Given the description of an element on the screen output the (x, y) to click on. 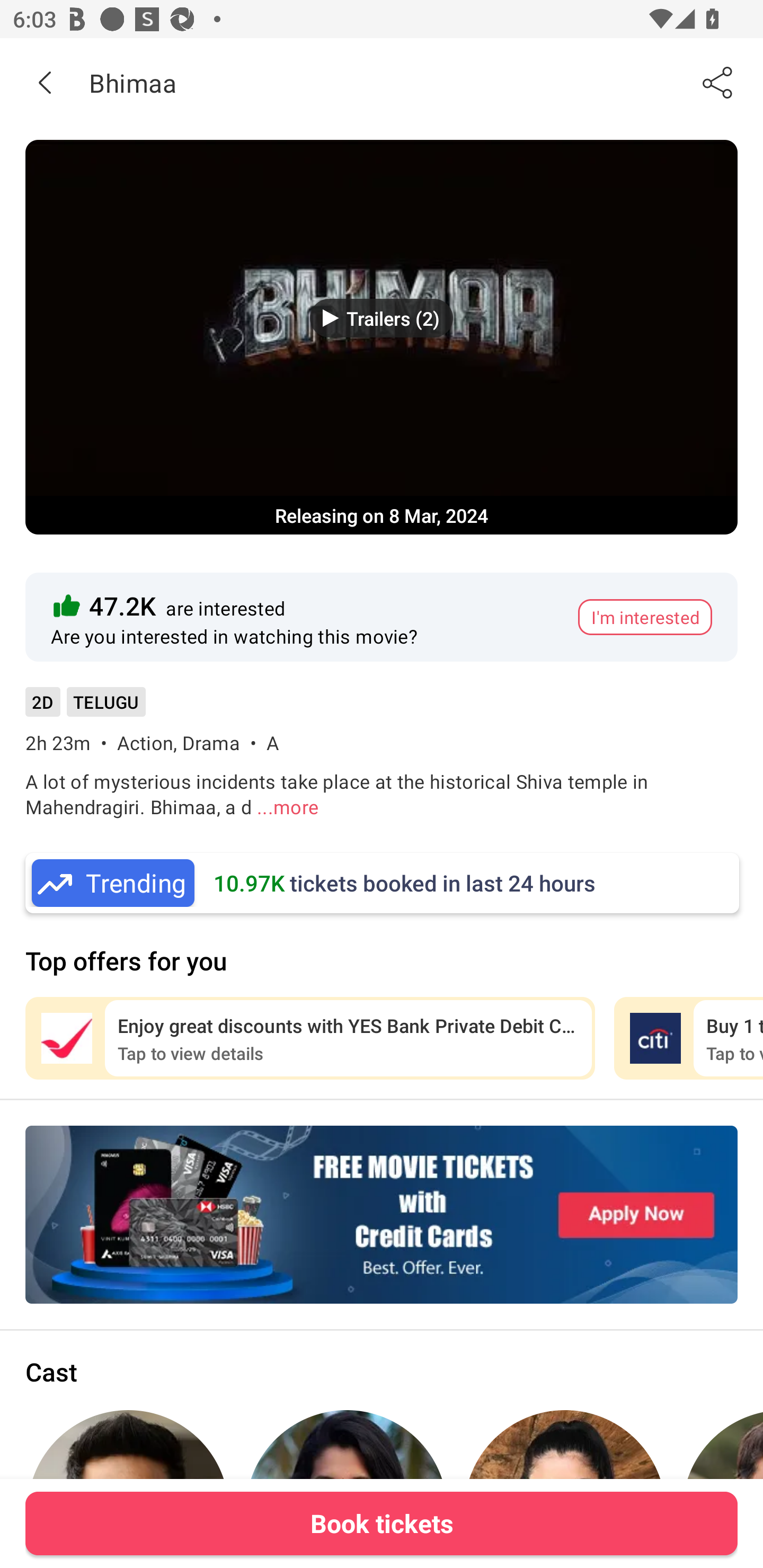
Back (44, 82)
Share (718, 82)
Movie Banner Trailers (2) Releasing on 8 Mar, 2024 (381, 336)
Trailers (2) (381, 318)
I'm interested (644, 616)
2D TELUGU (85, 707)
Book tickets (381, 1523)
